Given the description of an element on the screen output the (x, y) to click on. 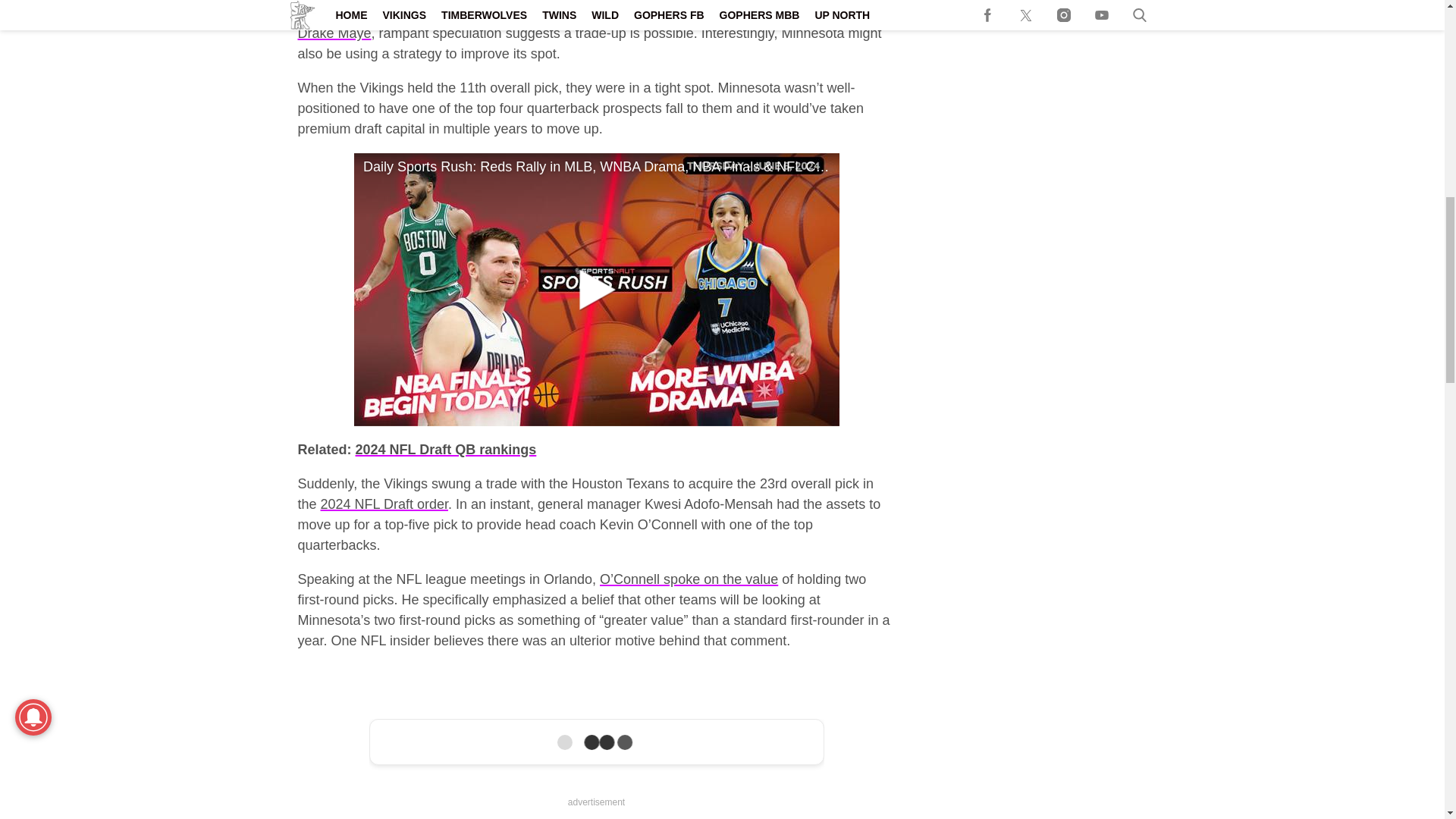
connecting them to J.J. McCarthy (761, 12)
2024 NFL Draft QB rankings (446, 449)
Play Video (596, 290)
Drake Maye (334, 32)
Play Video (595, 289)
2024 NFL Draft order (384, 503)
